Given the description of an element on the screen output the (x, y) to click on. 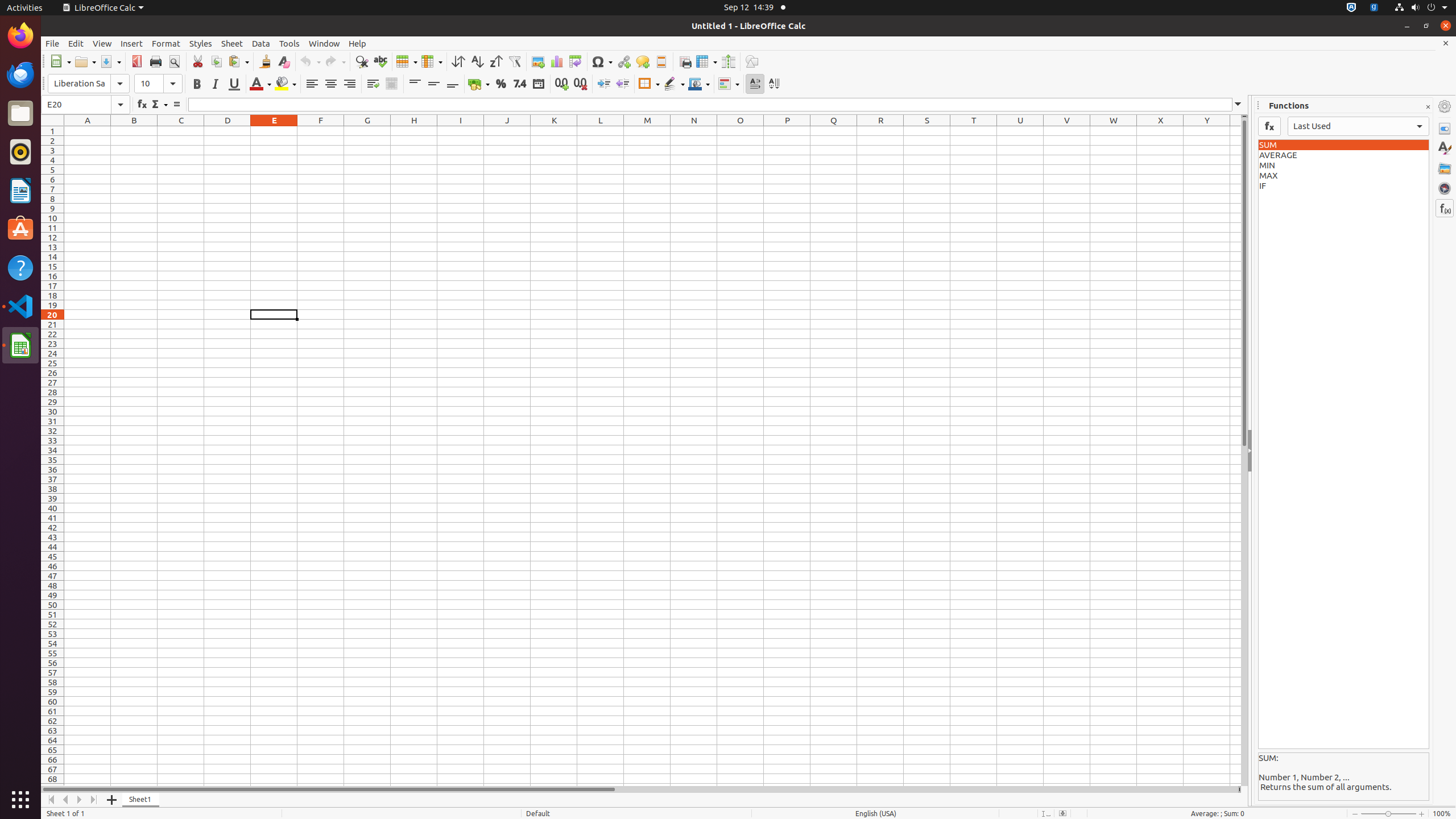
Conditional Element type: push-button (728, 83)
L1 Element type: table-cell (600, 130)
Print Preview Element type: toggle-button (173, 61)
Chart Element type: push-button (556, 61)
Align Bottom Element type: push-button (452, 83)
